Given the description of an element on the screen output the (x, y) to click on. 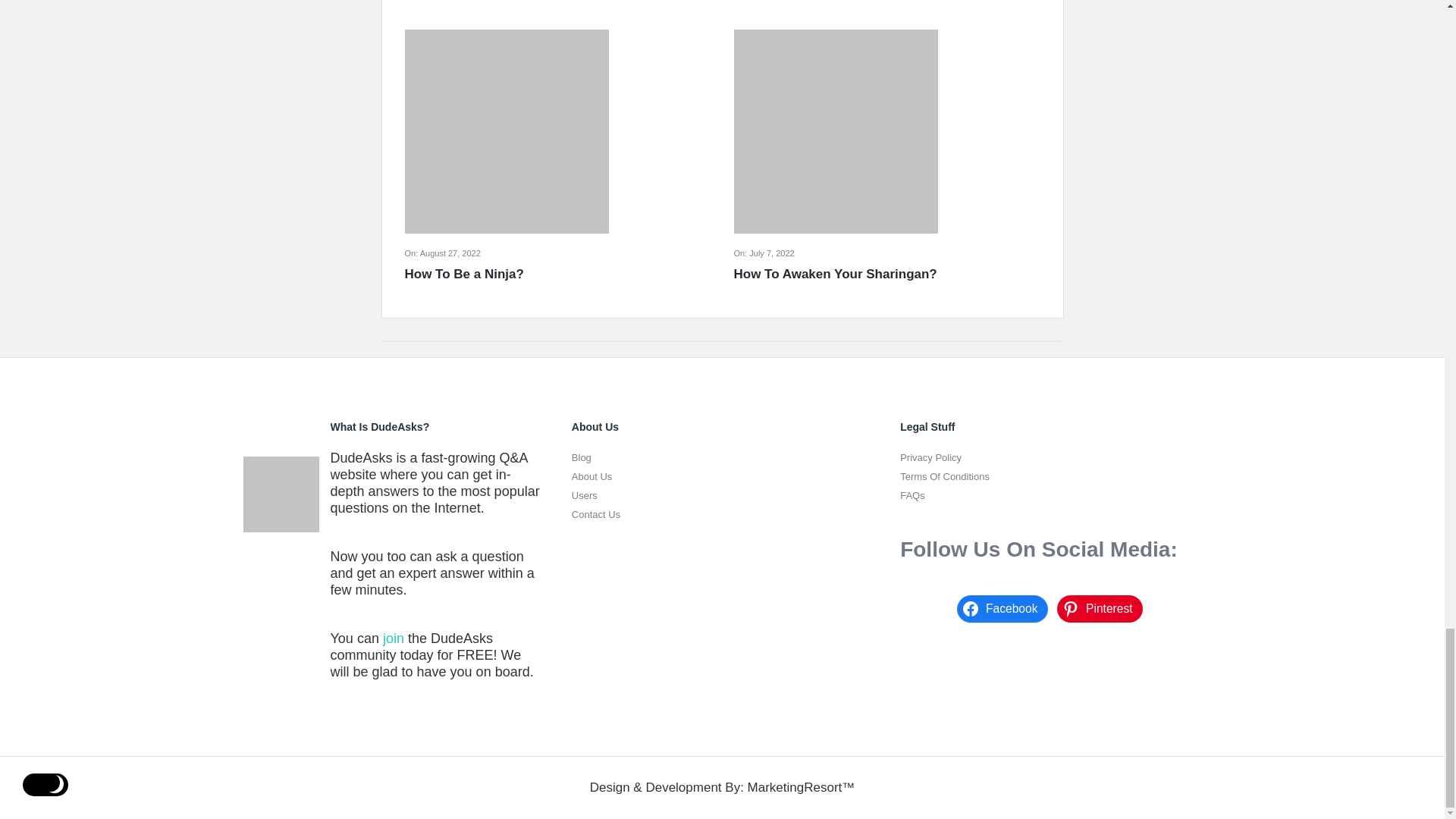
How To Awaken Your Sharingan? (887, 274)
How To Be a Ninja? (557, 274)
